Given the description of an element on the screen output the (x, y) to click on. 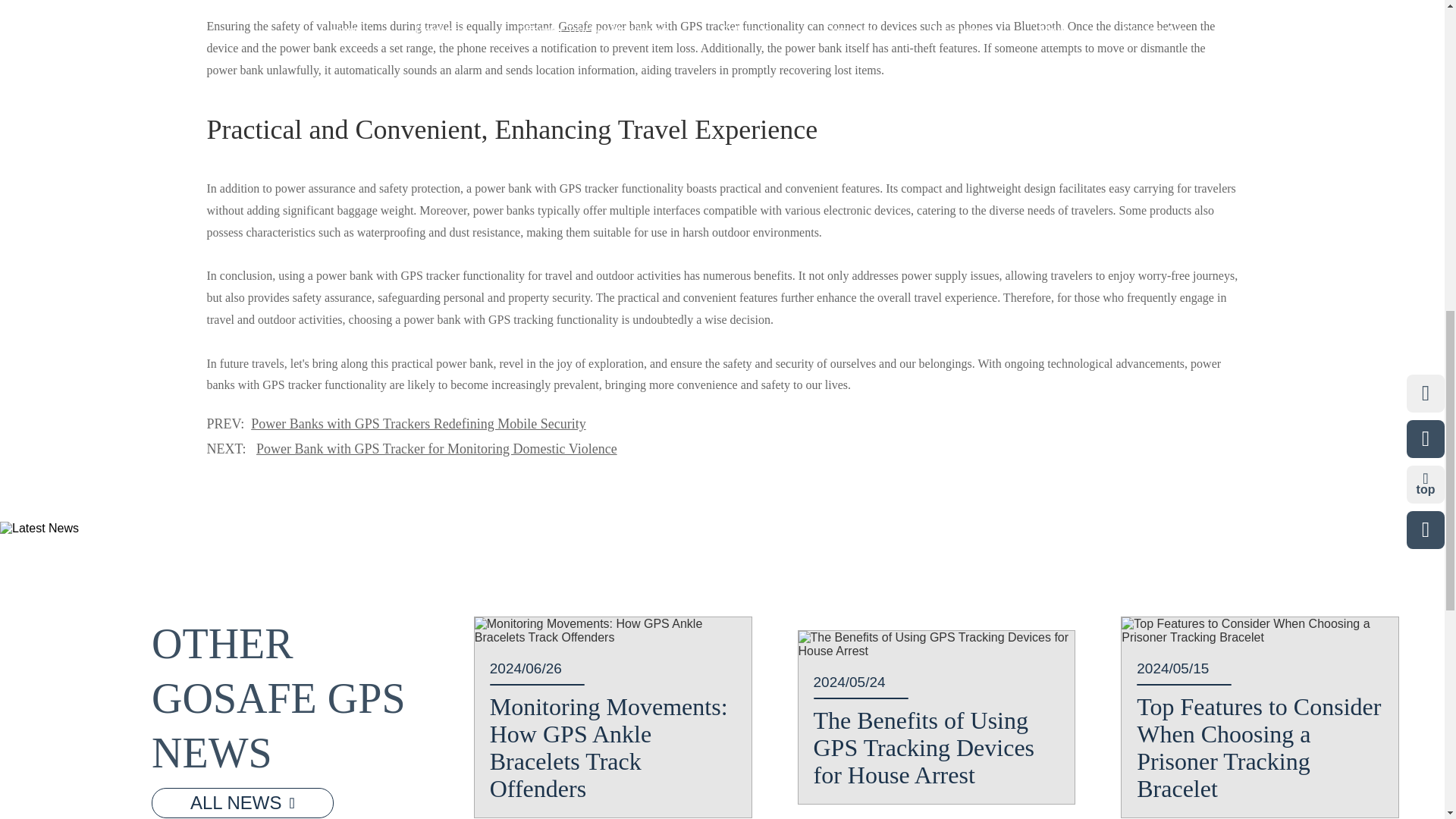
Power Banks with GPS Trackers Redefining Mobile Security (417, 423)
Power Bank with GPS Tracker for Monitoring Domestic Violence (436, 448)
The Benefits of Using GPS Tracking Devices for House Arrest (935, 644)
